Given the description of an element on the screen output the (x, y) to click on. 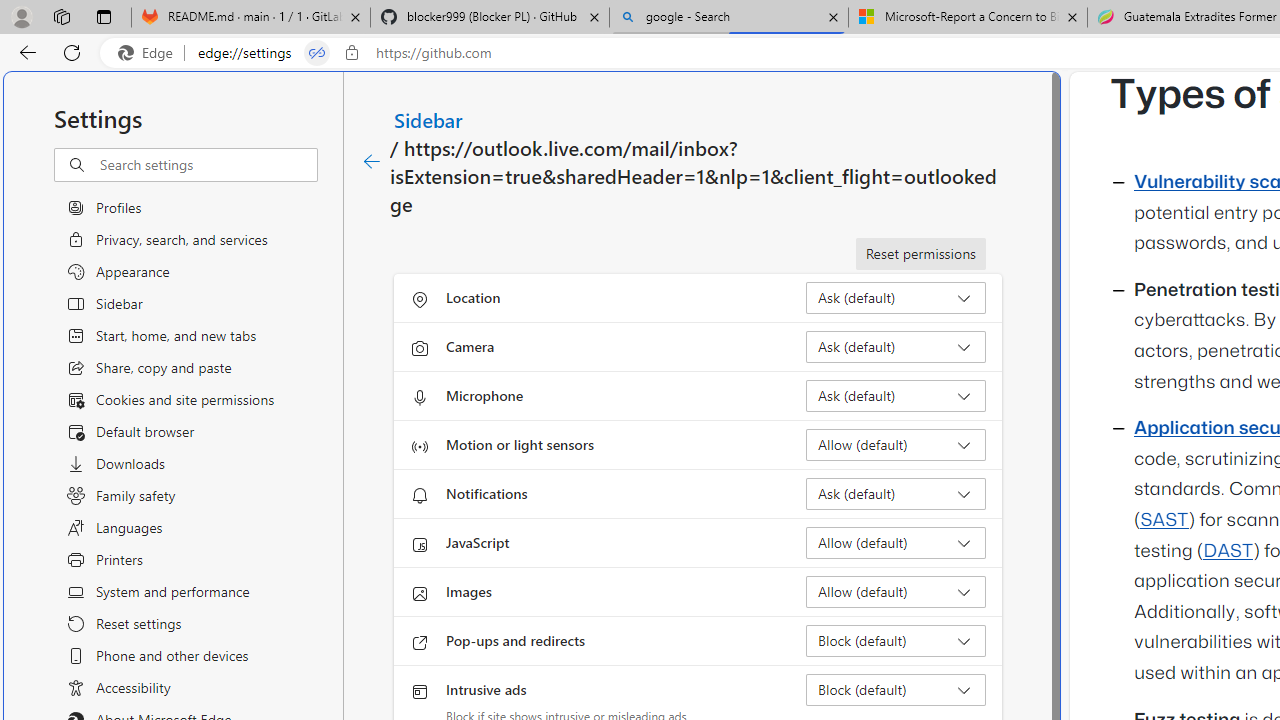
JavaScript Allow (default) (895, 542)
Class: c01182 (371, 161)
Microphone Ask (default) (895, 395)
Search settings (207, 165)
Motion or light sensors Allow (default) (895, 444)
Intrusive ads Block (default) (895, 689)
Images Allow (default) (895, 591)
Go back to Sidebar page. (372, 162)
Edge (150, 53)
Tabs in split screen (317, 53)
Sidebar (429, 119)
